Given the description of an element on the screen output the (x, y) to click on. 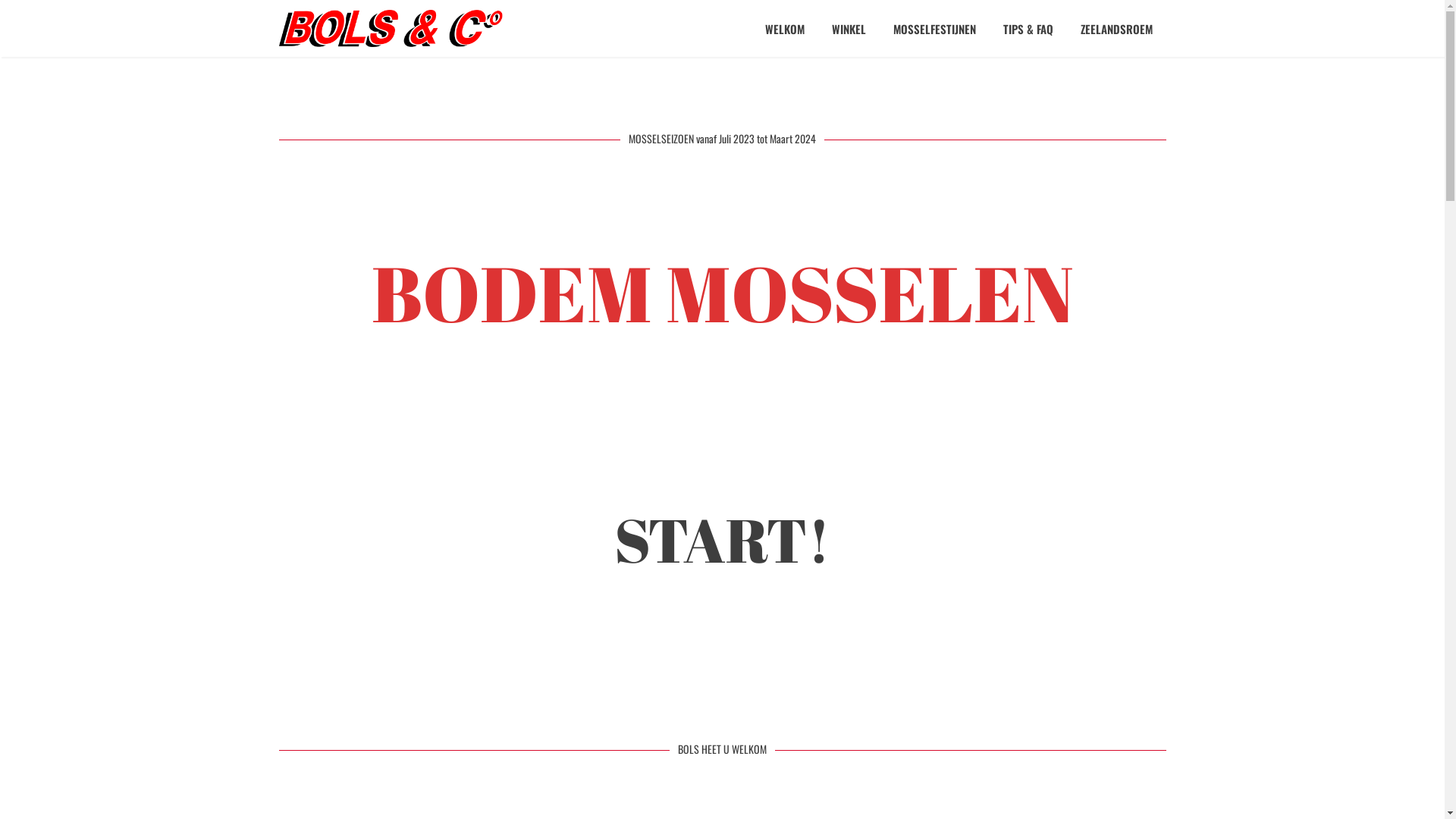
TIPS & FAQ Element type: text (1027, 28)
WINKEL Element type: text (847, 28)
ZEELANDSROEM Element type: text (1115, 28)
MOSSELFESTIJNEN Element type: text (934, 28)
WELKOM Element type: text (783, 28)
